Given the description of an element on the screen output the (x, y) to click on. 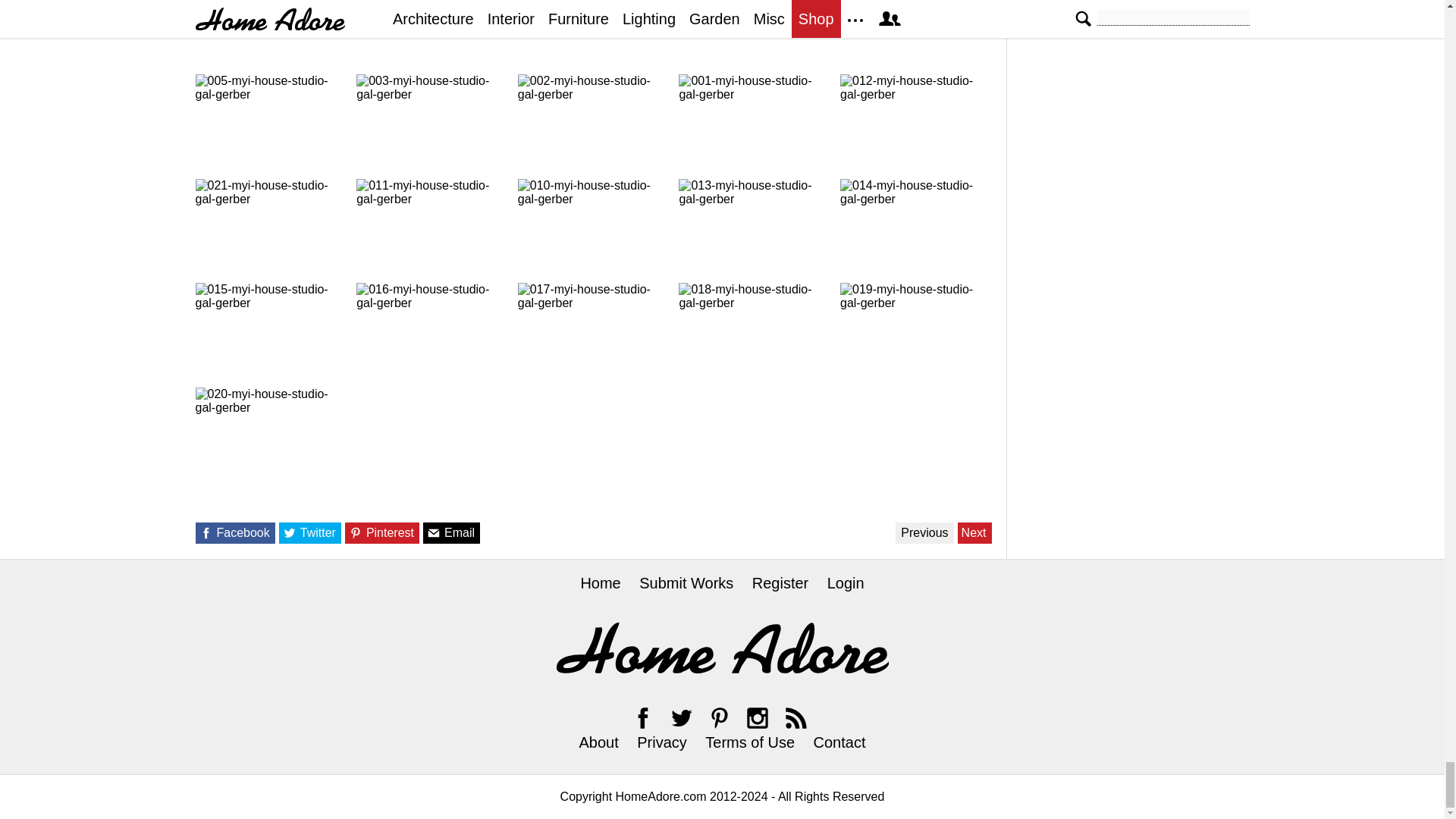
Share with a Friend (433, 532)
Share on Facebook (205, 532)
Twitter (681, 718)
Share on Twitter (289, 532)
Share on Pinterest (355, 532)
HomeAdore (722, 648)
Facebook (643, 718)
